Given the description of an element on the screen output the (x, y) to click on. 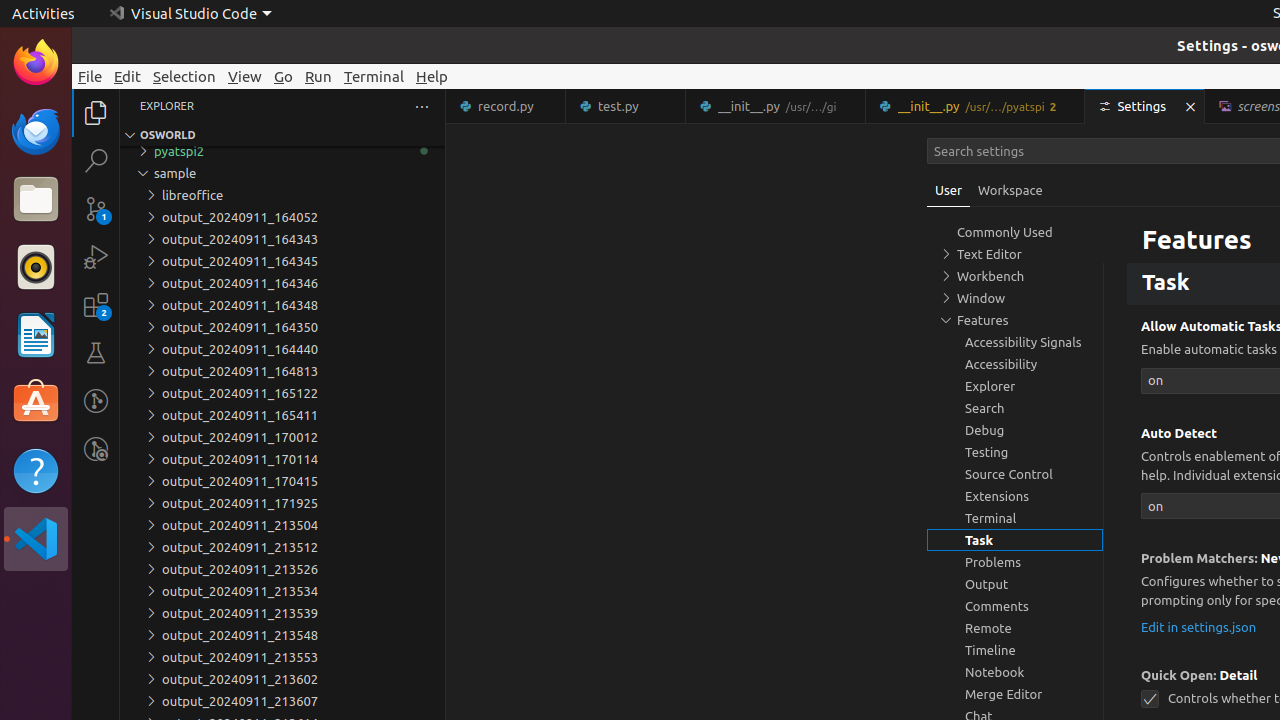
Window, group Element type: tree-item (1015, 298)
Notebook, group Element type: tree-item (1015, 672)
output_20240911_164350 Element type: tree-item (282, 327)
record.py Element type: page-tab (506, 106)
output_20240911_171925 Element type: tree-item (282, 503)
